Given the description of an element on the screen output the (x, y) to click on. 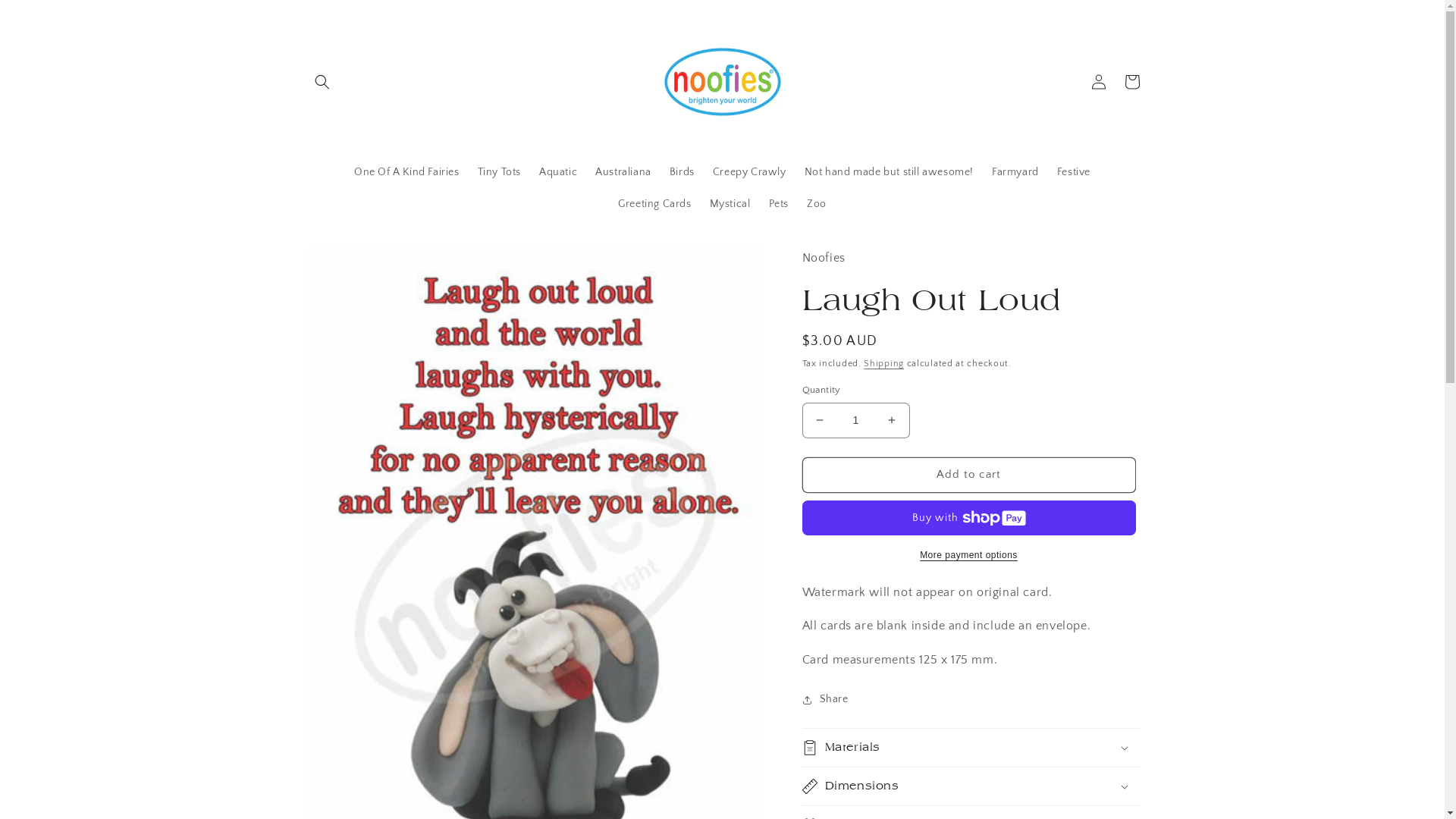
Birds Element type: text (681, 172)
Increase quantity for Laugh Out Loud Element type: text (892, 420)
Cart Element type: text (1131, 81)
Australiana Element type: text (623, 172)
Aquatic Element type: text (558, 172)
More payment options Element type: text (968, 554)
Add to cart Element type: text (968, 474)
Festive Element type: text (1073, 172)
Mystical Element type: text (729, 203)
Decrease quantity for Laugh Out Loud Element type: text (819, 420)
Skip to product information Element type: text (350, 264)
Creepy Crawly Element type: text (749, 172)
Tiny Tots Element type: text (499, 172)
One Of A Kind Fairies Element type: text (406, 172)
Log in Element type: text (1097, 81)
Pets Element type: text (778, 203)
Zoo Element type: text (816, 203)
https://noofies.com.au/products/laugh-out-loud Element type: text (892, 749)
Not hand made but still awesome! Element type: text (888, 172)
Shipping Element type: text (883, 363)
Farmyard Element type: text (1015, 172)
Greeting Cards Element type: text (653, 203)
